Given the description of an element on the screen output the (x, y) to click on. 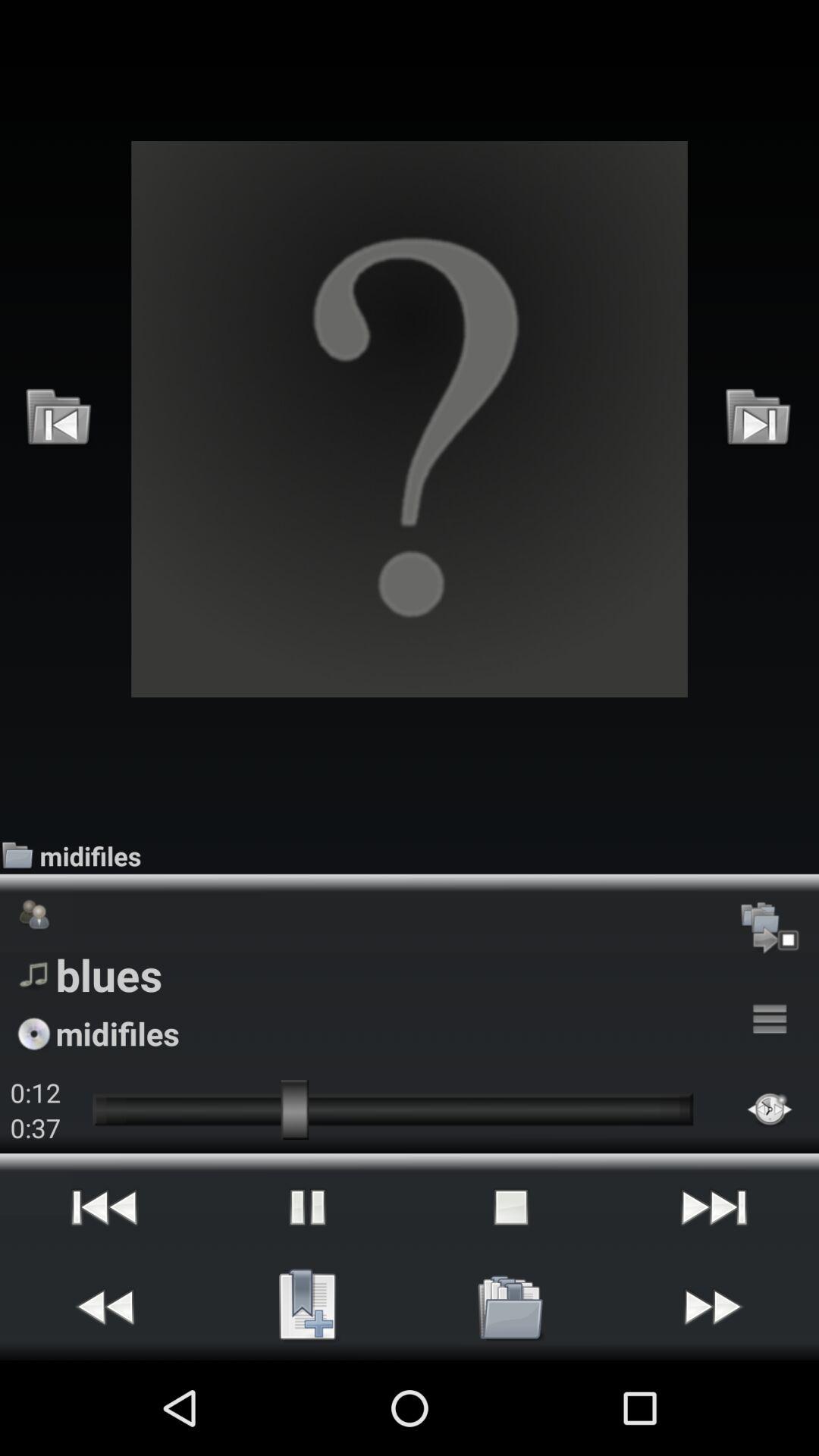
turn on icon at the top left corner (59, 418)
